Given the description of an element on the screen output the (x, y) to click on. 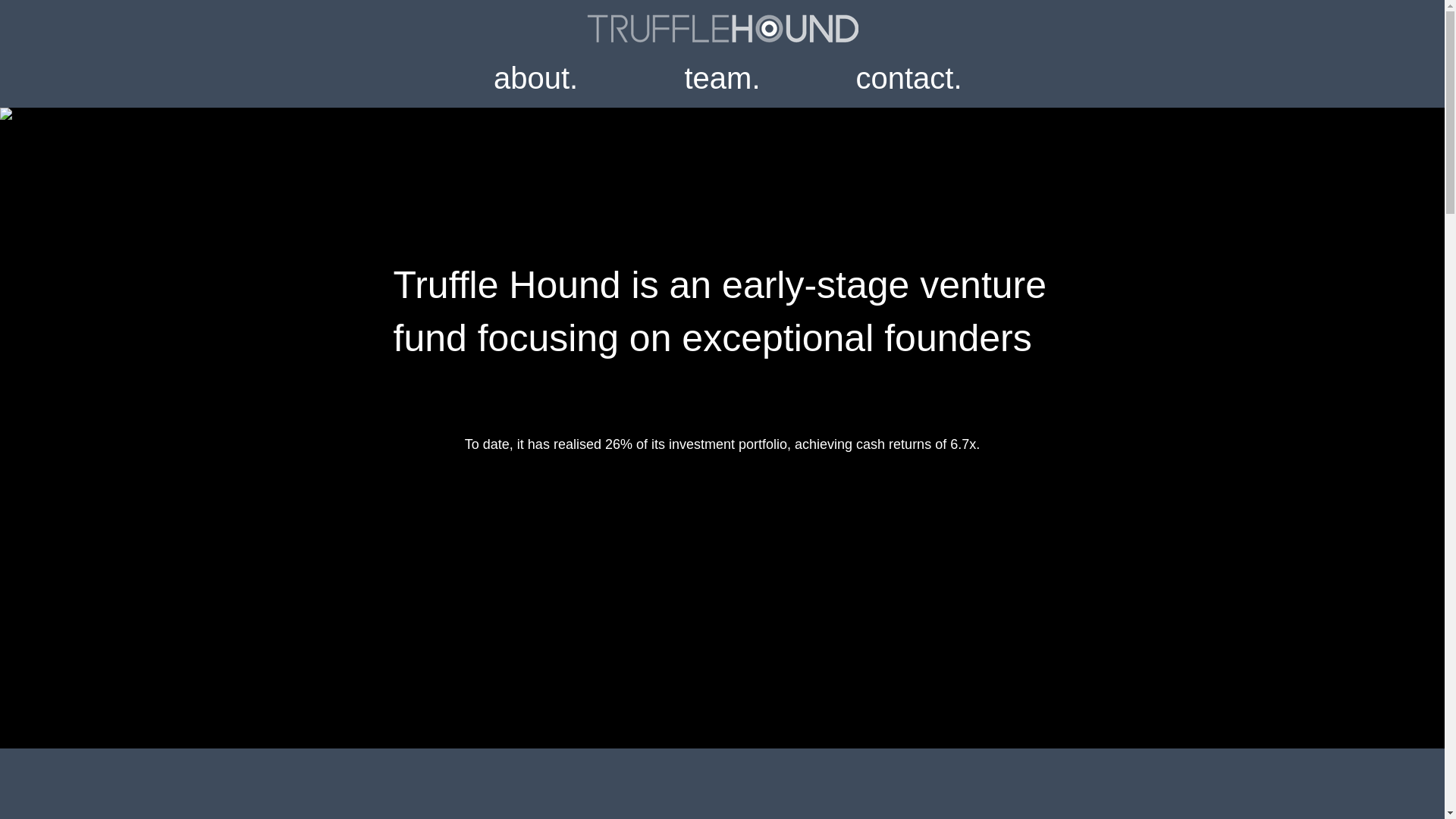
about. (535, 75)
team. (721, 75)
contact. (909, 75)
